Given the description of an element on the screen output the (x, y) to click on. 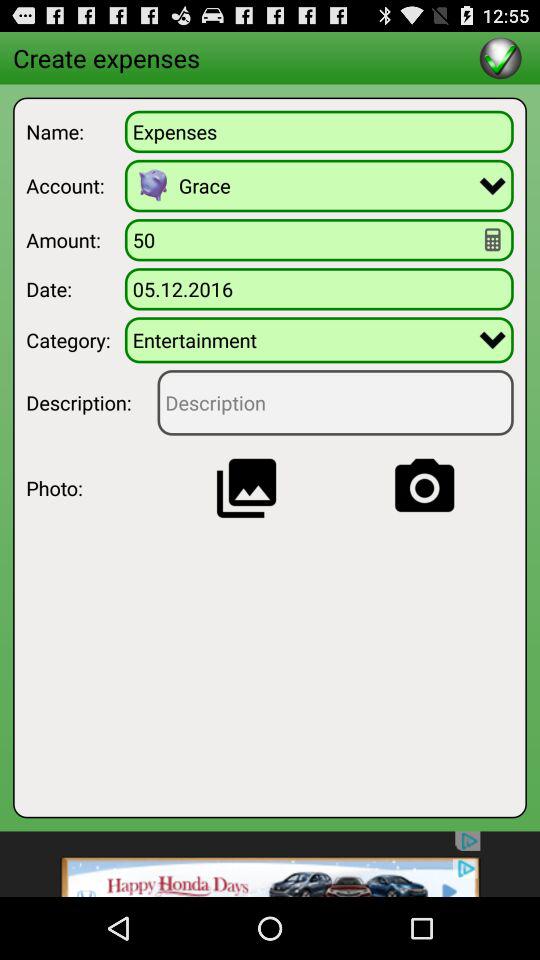
feed back to be given (335, 402)
